Given the description of an element on the screen output the (x, y) to click on. 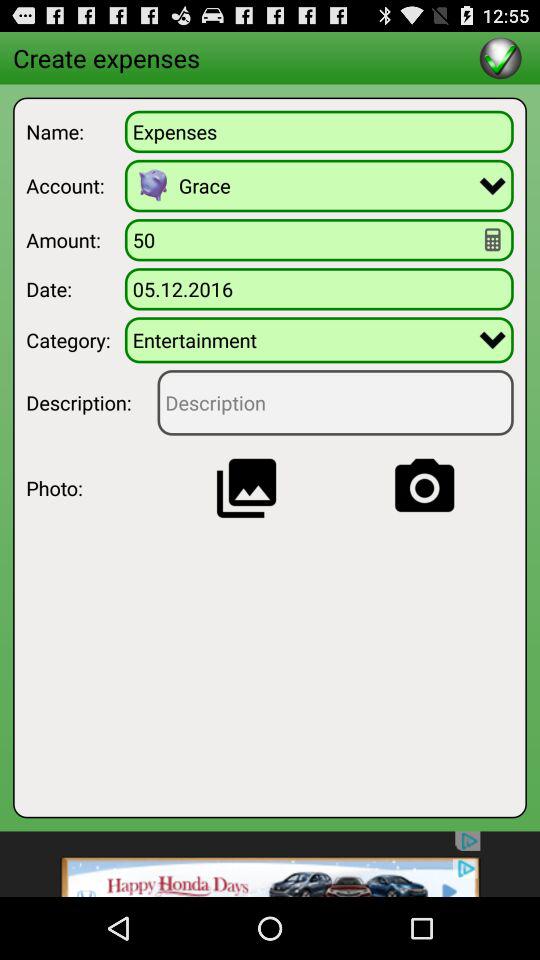
feed back to be given (335, 402)
